Given the description of an element on the screen output the (x, y) to click on. 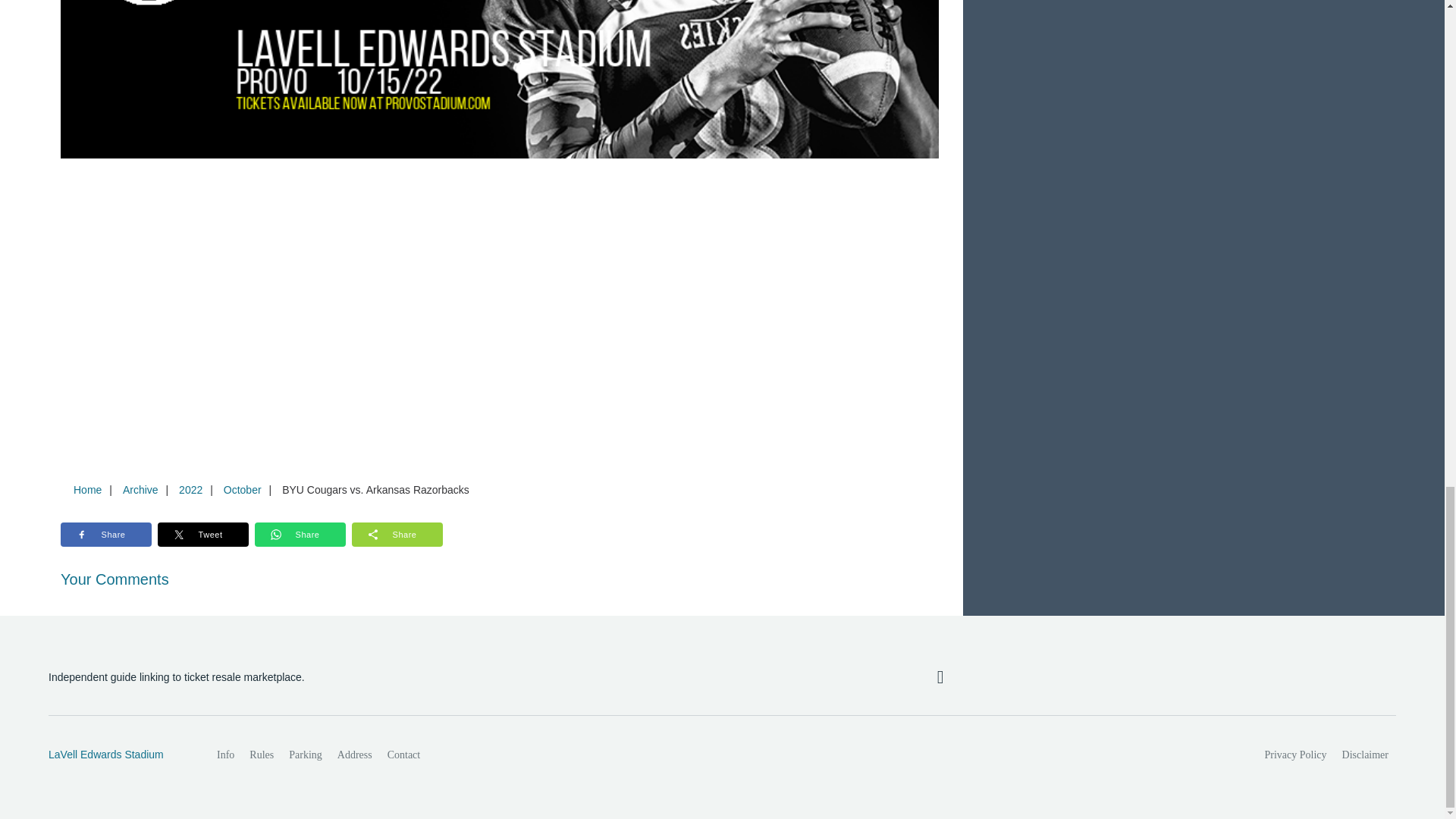
Archive (140, 490)
LaVell Edwards Stadium (116, 754)
Address (355, 755)
Contact (404, 755)
Privacy Policy (1296, 755)
Disclaimer (1365, 755)
October (242, 490)
Info (225, 755)
Rules (261, 755)
2022 (190, 490)
Home (87, 490)
Parking (305, 755)
